Given the description of an element on the screen output the (x, y) to click on. 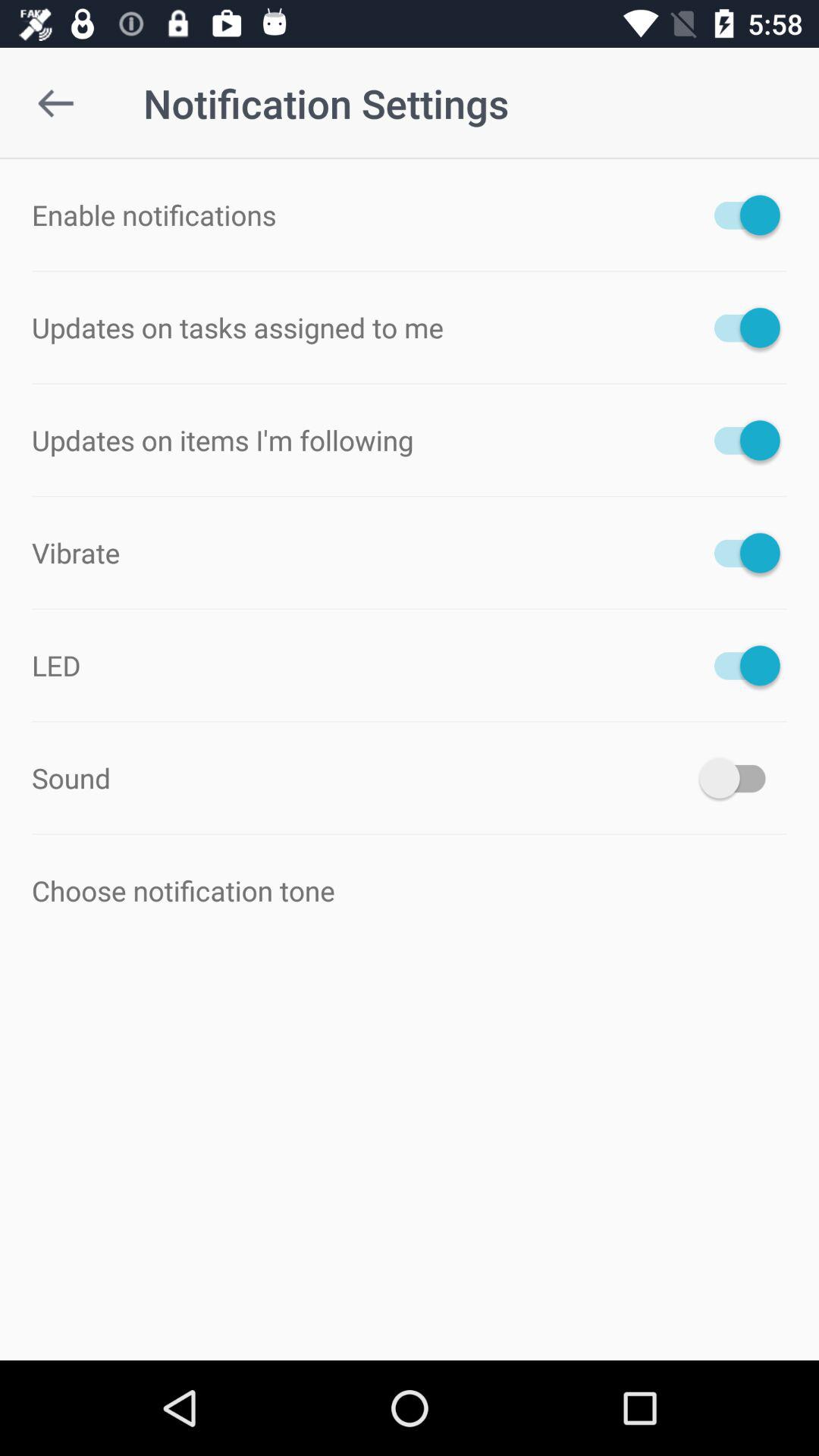
turn on item at the top left corner (55, 103)
